Given the description of an element on the screen output the (x, y) to click on. 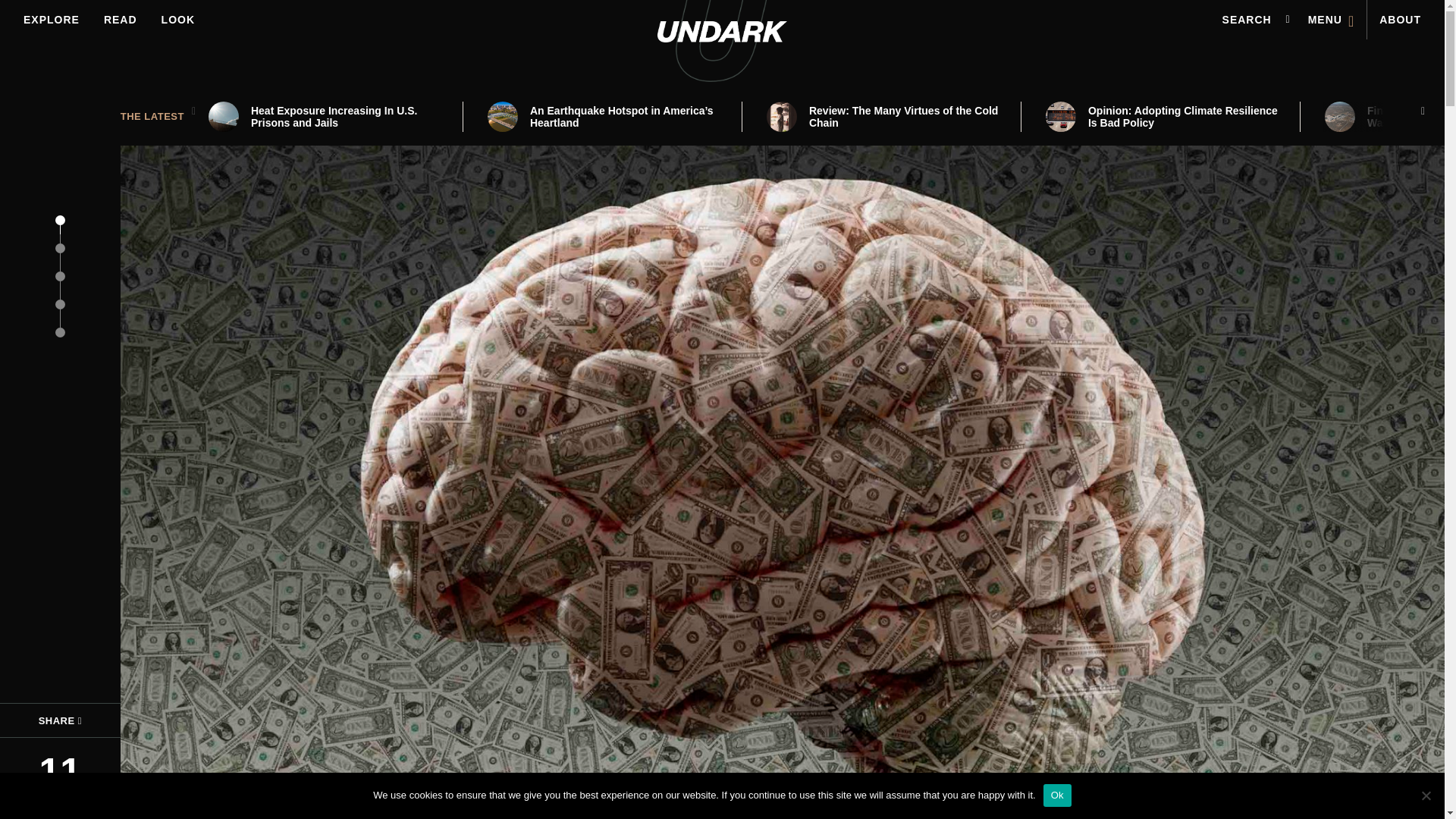
No (1425, 795)
